Given the description of an element on the screen output the (x, y) to click on. 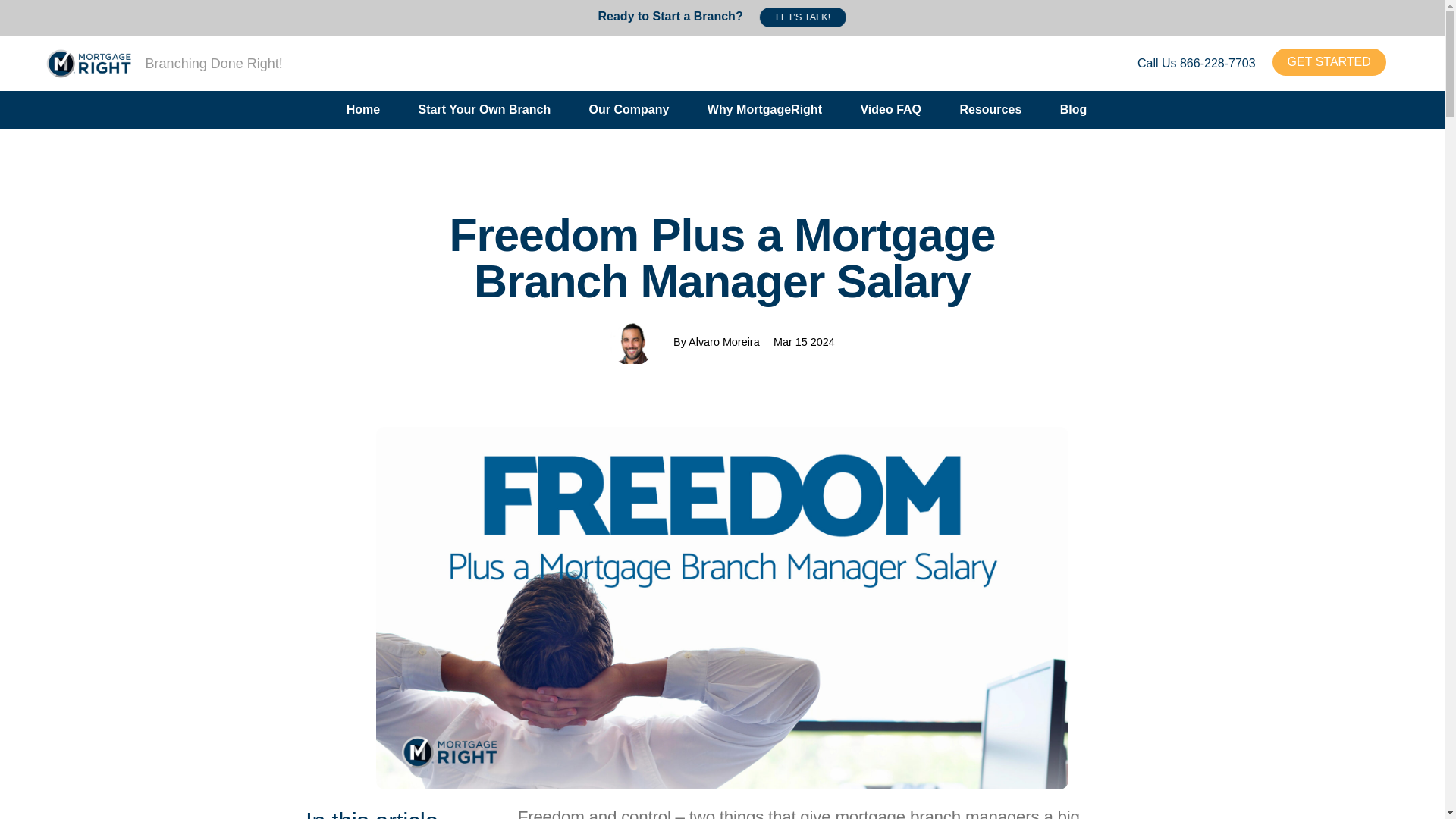
Video FAQ (890, 111)
Resources (989, 111)
Why MortgageRight (764, 111)
Our Company (629, 111)
Home (362, 111)
LET'S TALK! (802, 16)
866-228-7703 (1217, 62)
Start Your Own Branch (484, 111)
Blog (1073, 111)
GET STARTED (1329, 62)
